Given the description of an element on the screen output the (x, y) to click on. 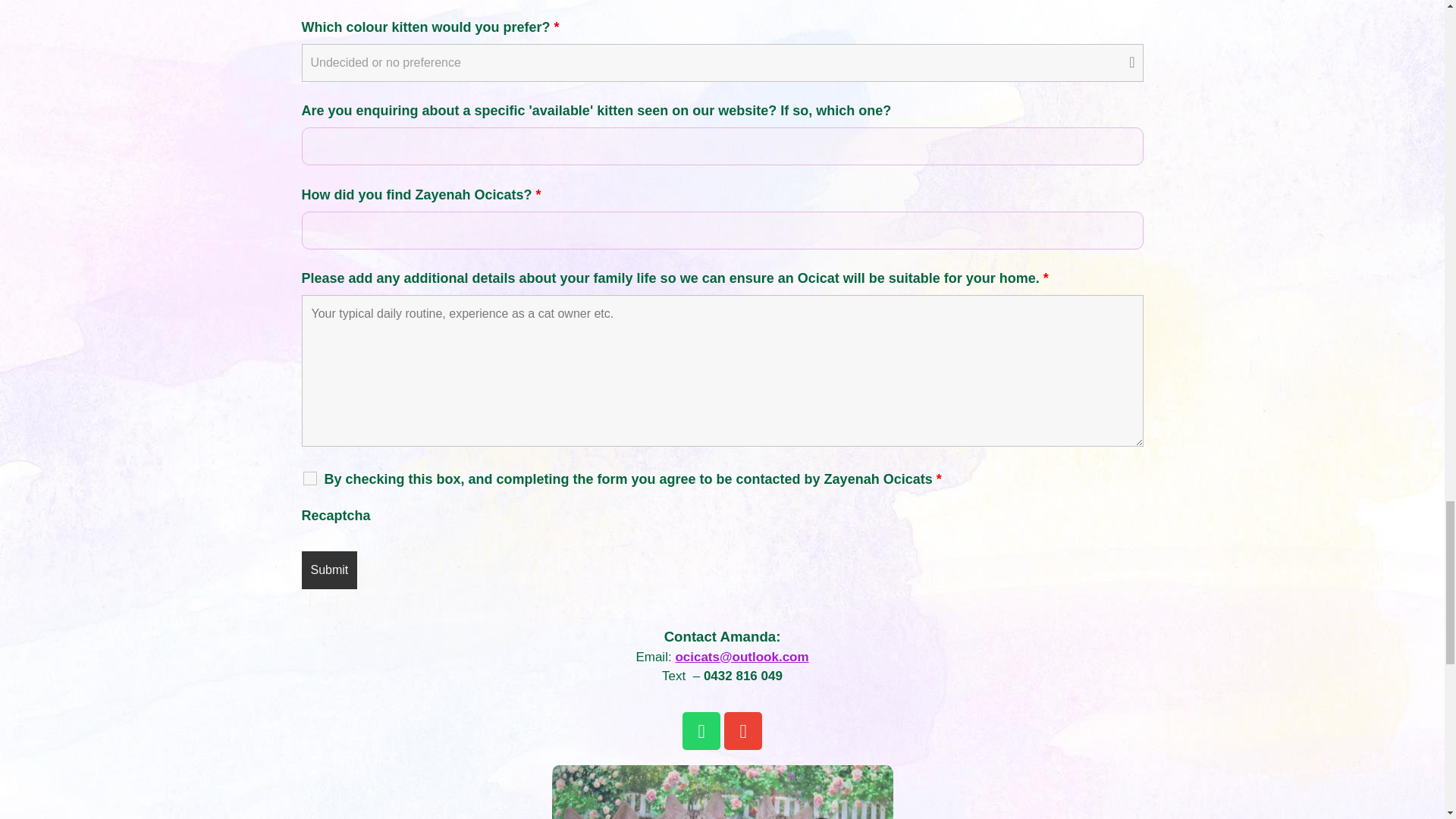
Submit (329, 569)
Submit (329, 569)
